Given the description of an element on the screen output the (x, y) to click on. 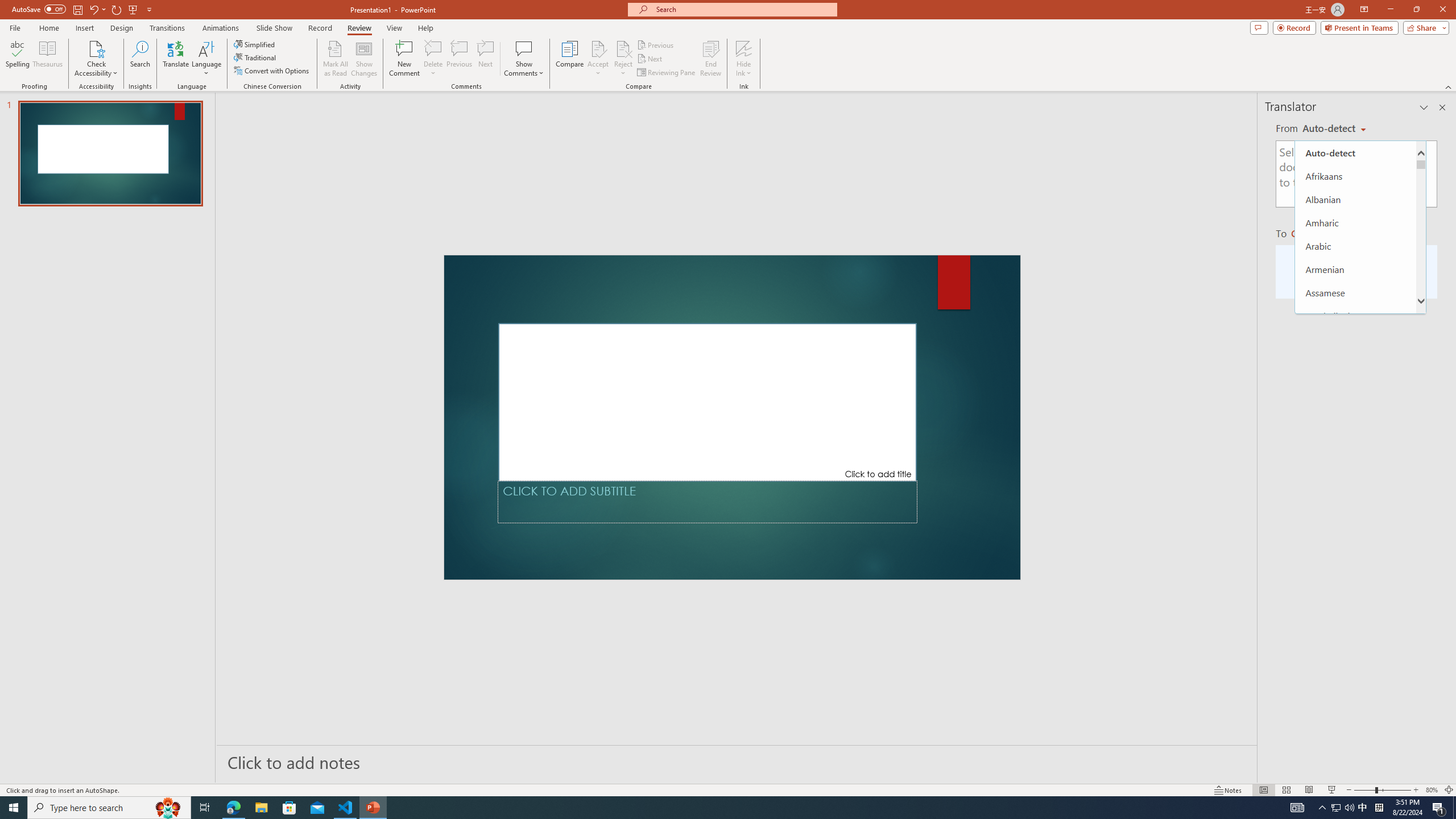
Dutch (1355, 781)
Traditional (255, 56)
Bhojpuri (1355, 408)
Spelling... (17, 58)
Czech (1313, 232)
Show Changes (363, 58)
Hide Ink (743, 58)
Auto-detect (1334, 128)
